Given the description of an element on the screen output the (x, y) to click on. 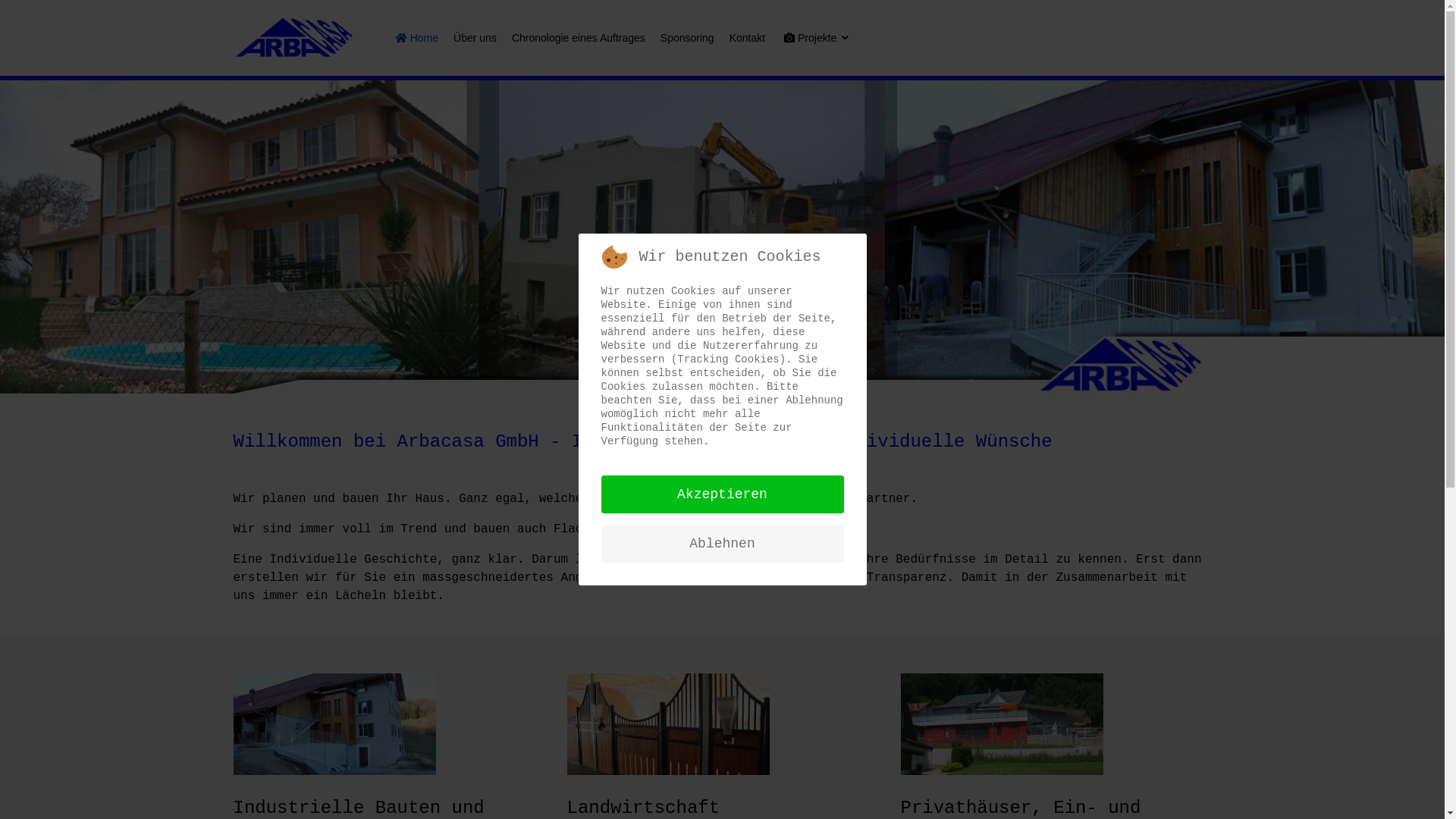
Kontakt Element type: text (746, 37)
Home Element type: text (416, 37)
Ablehnen Element type: text (721, 543)
Akzeptieren Element type: text (721, 494)
Chronologie eines Auftrages Element type: text (578, 37)
Sponsoring Element type: text (686, 37)
Projekte Element type: text (810, 37)
